Given the description of an element on the screen output the (x, y) to click on. 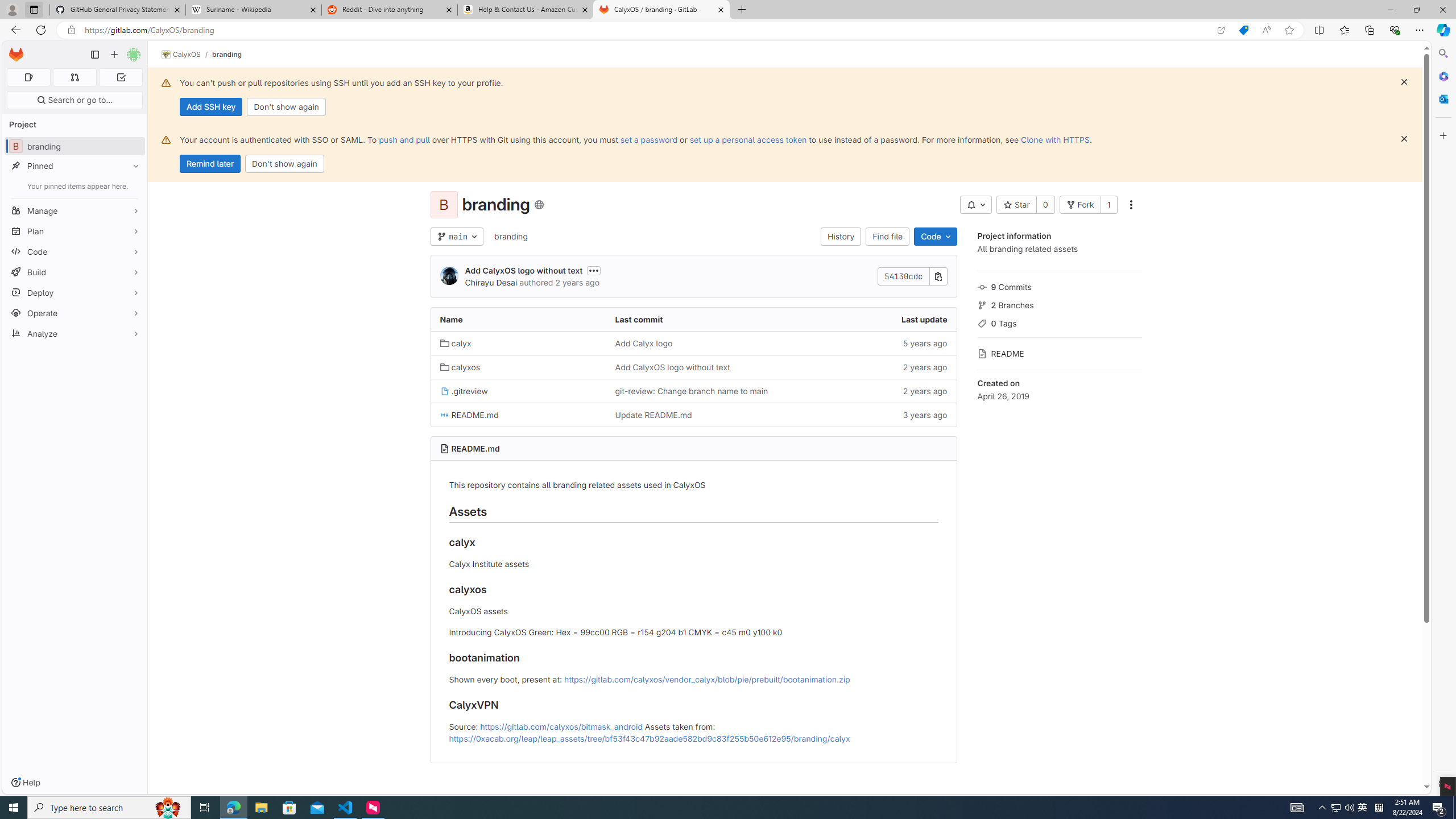
Plan (74, 230)
To-Do list 0 (120, 76)
Analyze (74, 333)
History (840, 236)
2 years ago (868, 390)
Fork (1079, 204)
0 (1045, 204)
Last commit (693, 319)
git-review: Change branch name to main (691, 390)
README (1058, 352)
Don't show again (284, 163)
Primary navigation sidebar (94, 54)
Update README.md (652, 414)
